Given the description of an element on the screen output the (x, y) to click on. 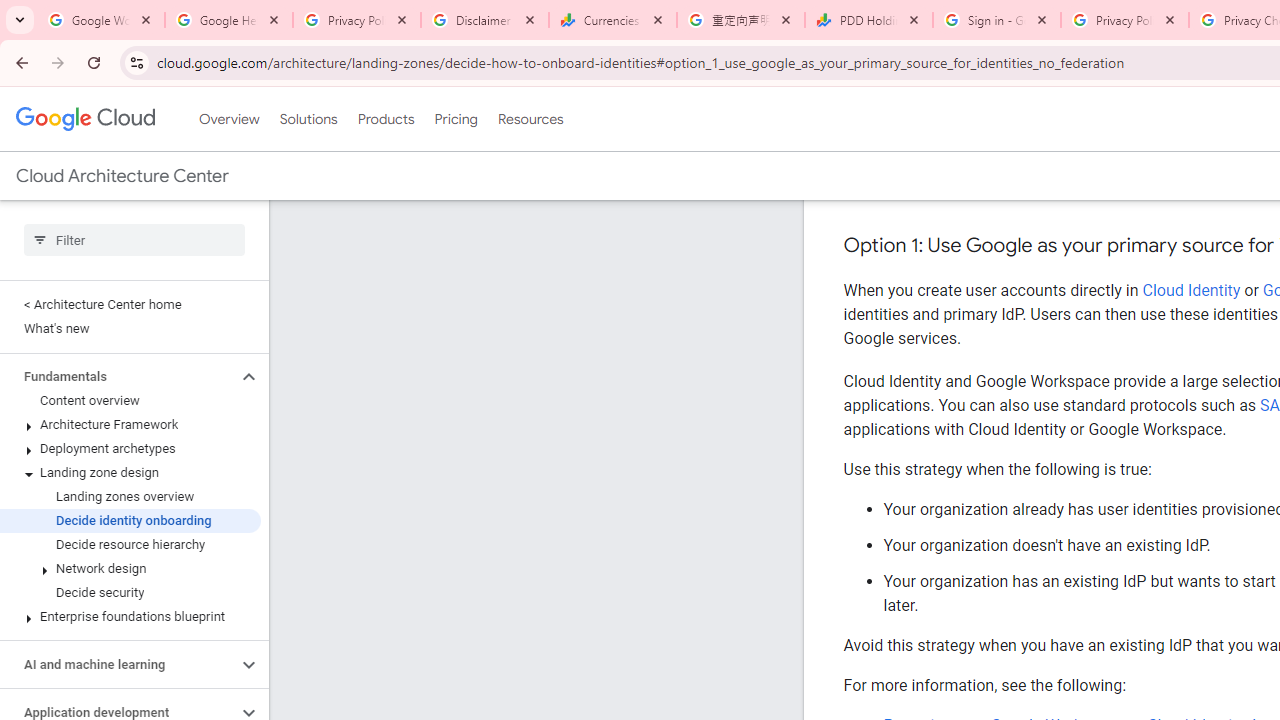
Architecture Framework (130, 425)
Decide resource hierarchy (130, 544)
Resources (530, 119)
Landing zones overview (130, 497)
Sign in - Google Accounts (997, 20)
Overview (228, 119)
Decide identity onboarding (130, 520)
< Architecture Center home (130, 304)
Content overview (130, 400)
